Given the description of an element on the screen output the (x, y) to click on. 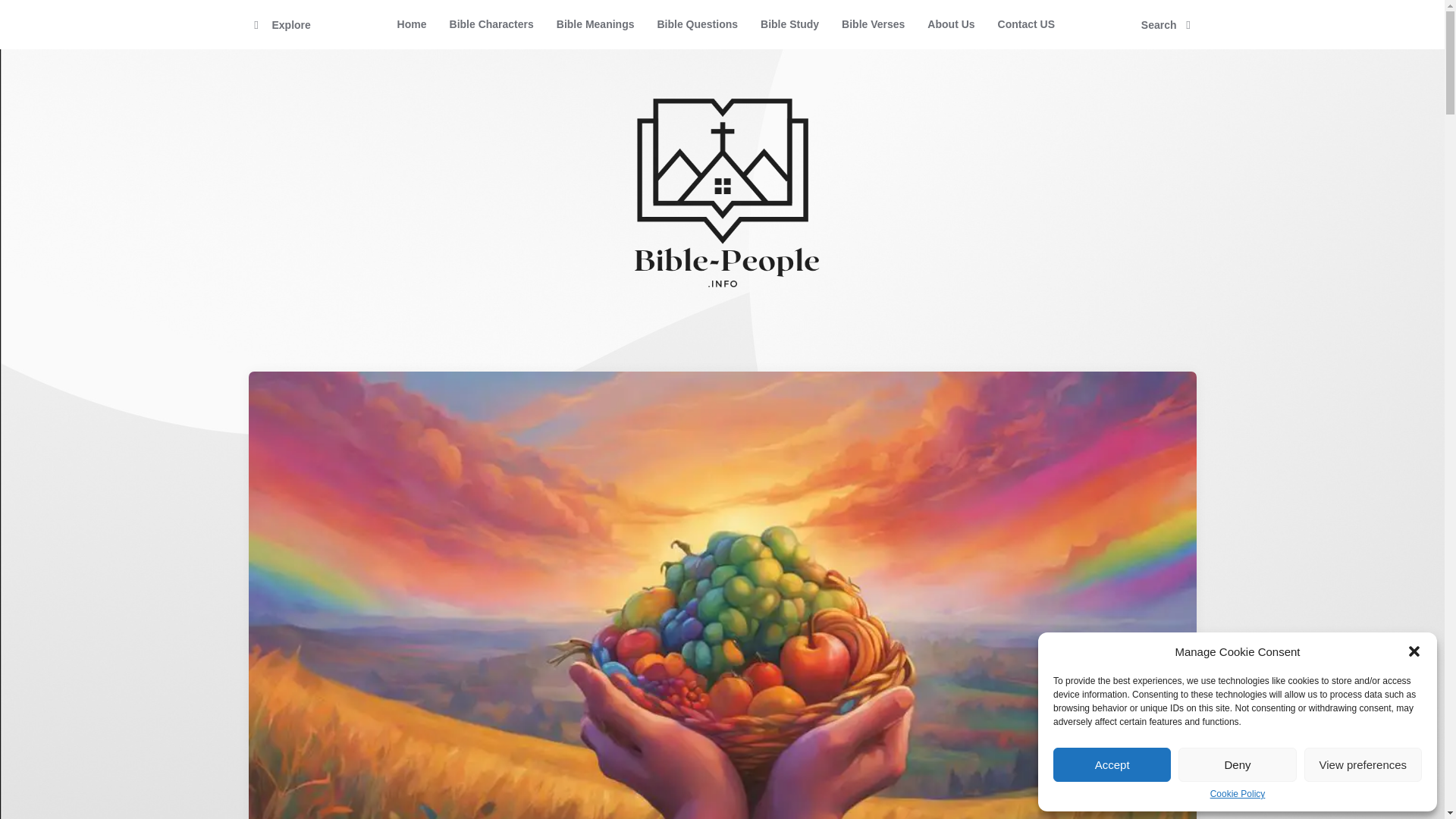
Bible Study (789, 24)
View preferences (1363, 764)
Accept (1111, 764)
Deny (1236, 764)
Bible Meanings (595, 24)
Bible Questions (697, 24)
Cookie Policy (1237, 794)
Bible Characters (491, 24)
Bible Verses (872, 24)
Home (411, 24)
